Given the description of an element on the screen output the (x, y) to click on. 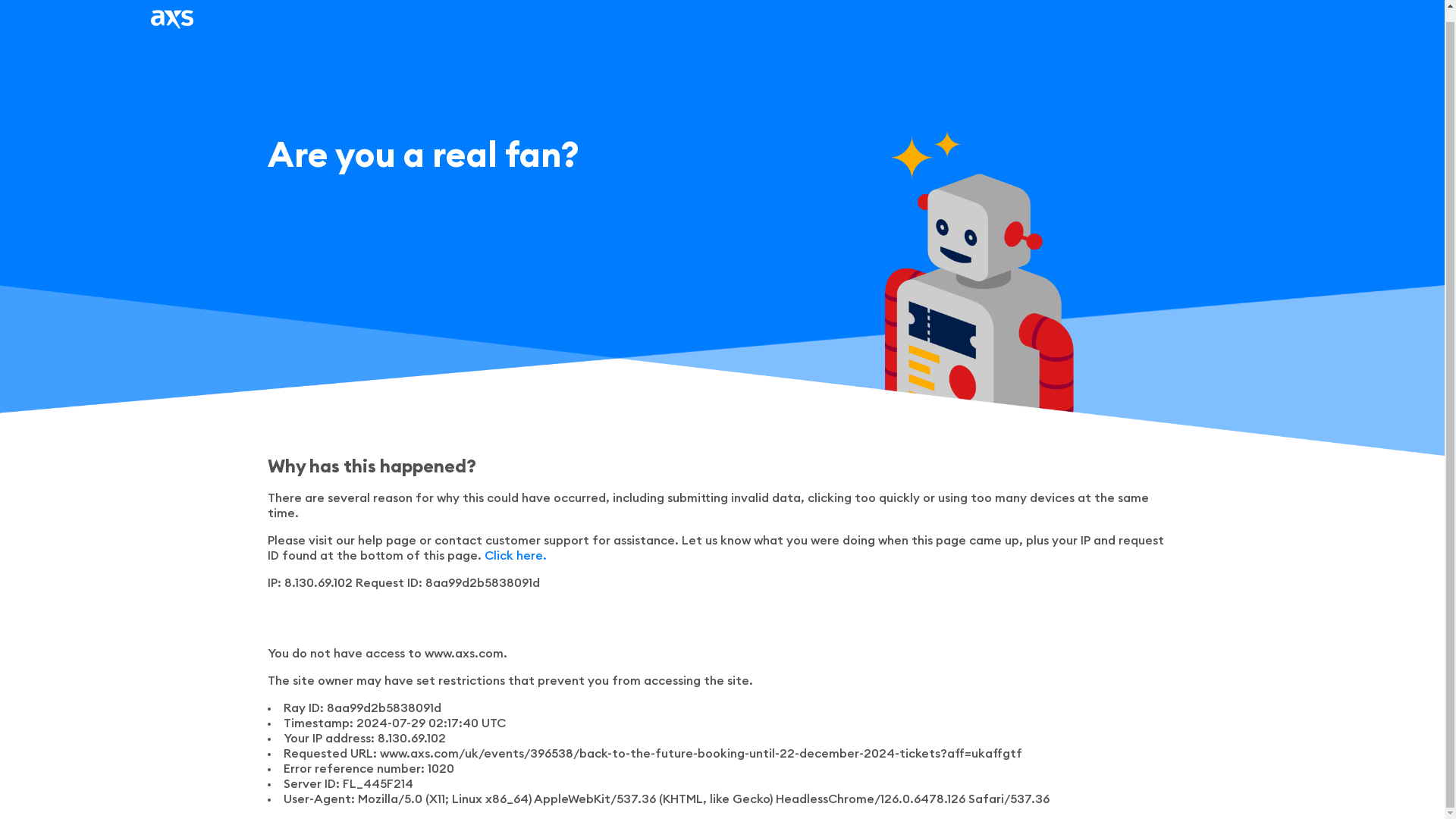
Click here. (514, 555)
